Given the description of an element on the screen output the (x, y) to click on. 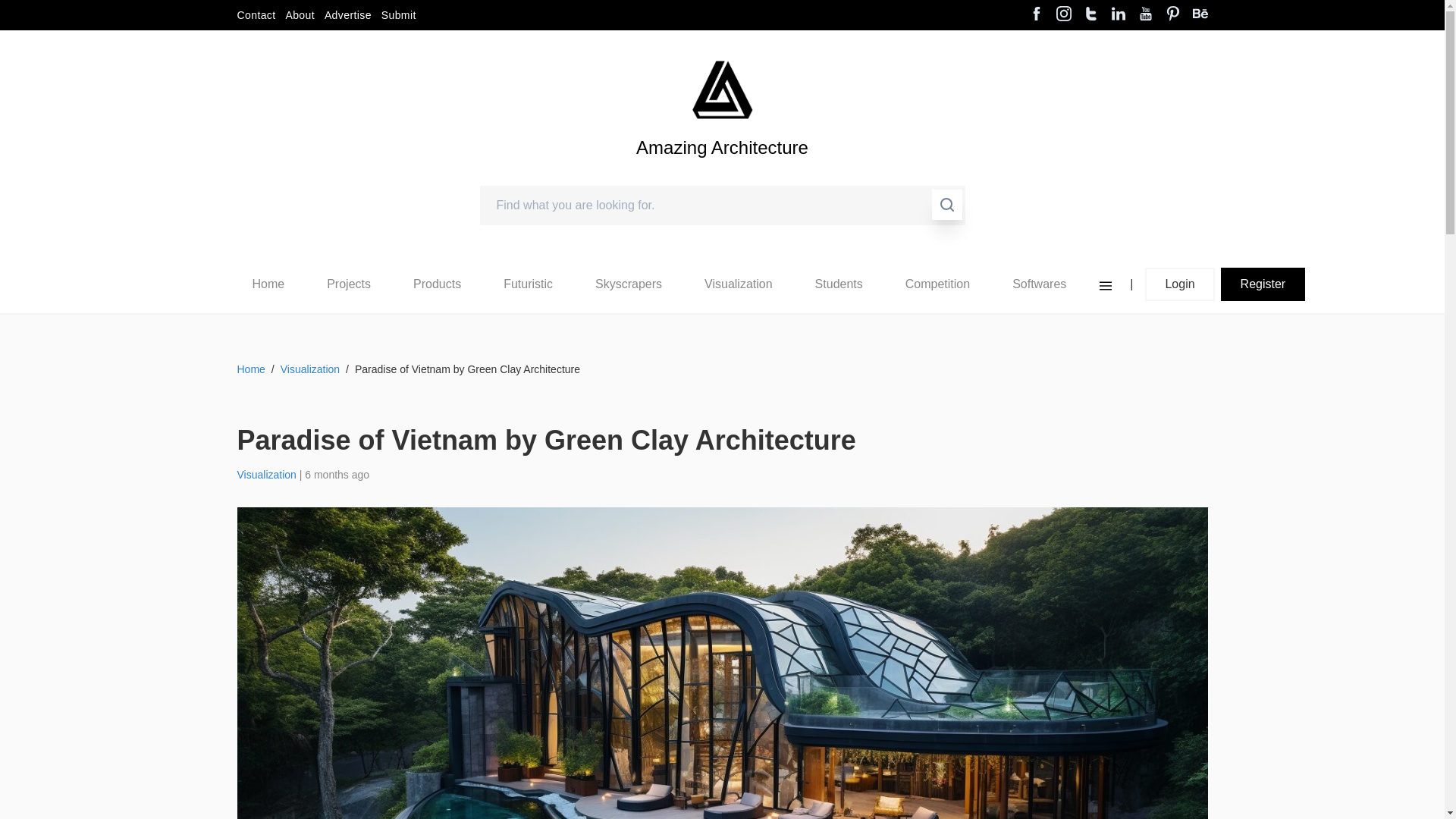
Products (437, 283)
Home (267, 284)
About us page (299, 15)
Home (267, 283)
Advertisement page (347, 15)
Amazing Architecture (722, 173)
Contact (255, 15)
Futuristic (528, 283)
Projects (348, 283)
Contact us page (255, 15)
Submit (398, 15)
Home (267, 283)
About (299, 15)
Submit page (398, 15)
Amazing Architecture (722, 173)
